Given the description of an element on the screen output the (x, y) to click on. 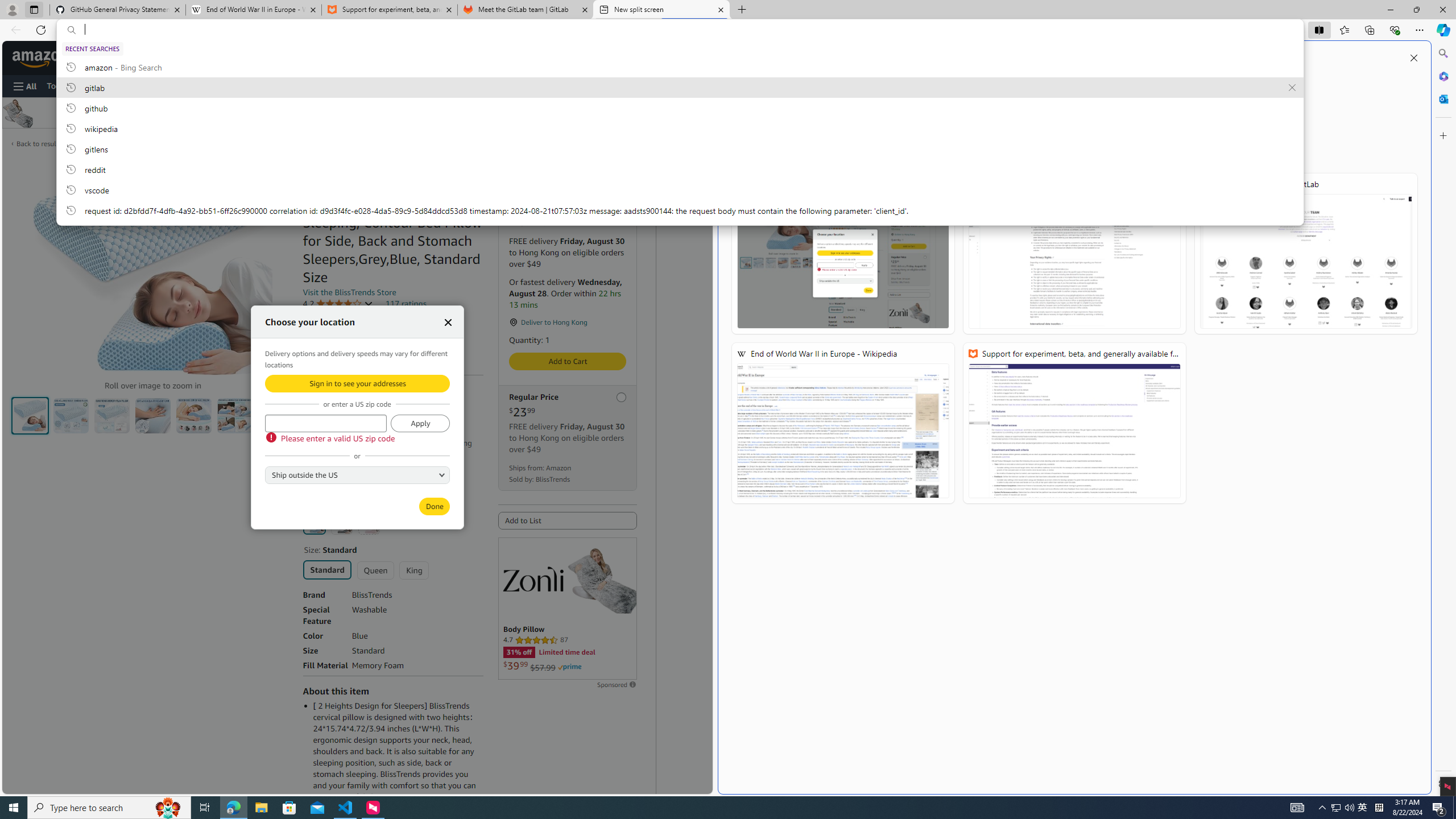
Search in (199, 58)
Sign in to see your addresses (356, 383)
Close split screen (1413, 57)
Lightning Deal $19.99 (567, 186)
Meet the GitLab team | GitLab (1305, 253)
Returns & Orders (570, 57)
Frequently visited (1117, 151)
amazon, recent searches from history (679, 66)
Standard (327, 569)
